Given the description of an element on the screen output the (x, y) to click on. 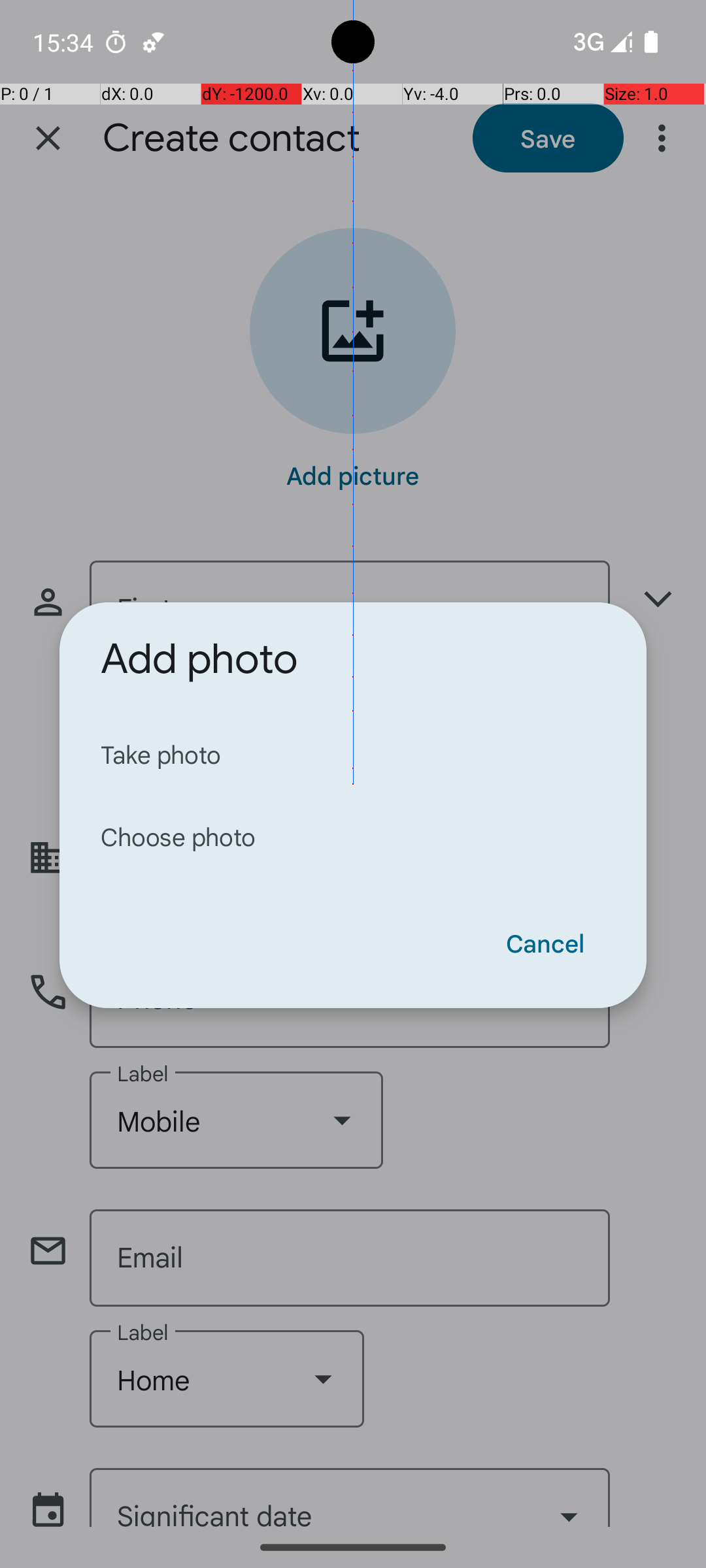
Add photo Element type: android.widget.TextView (199, 659)
